Given the description of an element on the screen output the (x, y) to click on. 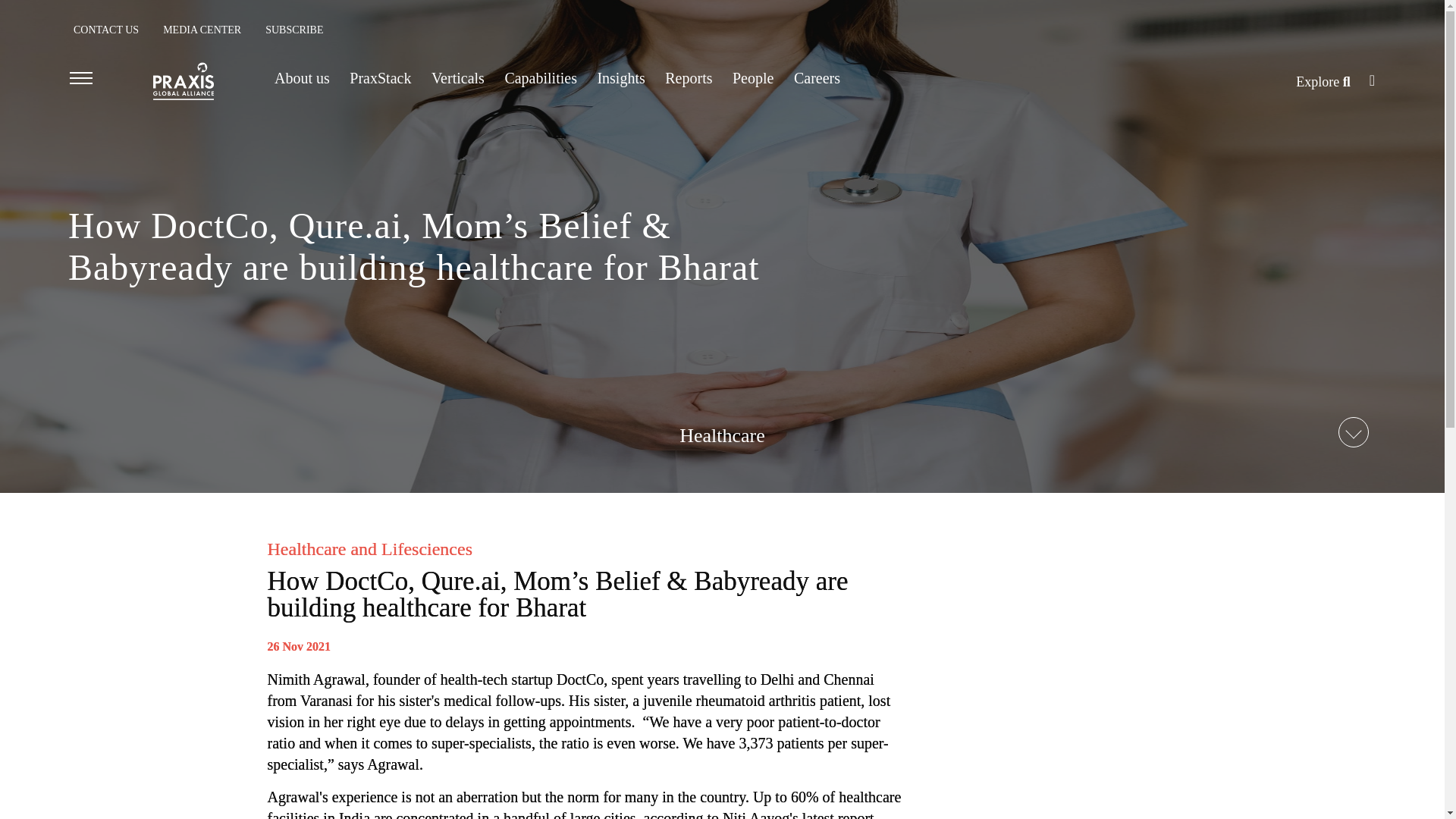
CONTACT US (105, 29)
Careers  (818, 77)
People (752, 77)
Insights (620, 77)
Capabilities (539, 77)
Reports (688, 77)
About us (302, 77)
Verticals (457, 77)
SUBSCRIBE (294, 29)
PraxStack (379, 77)
